Given the description of an element on the screen output the (x, y) to click on. 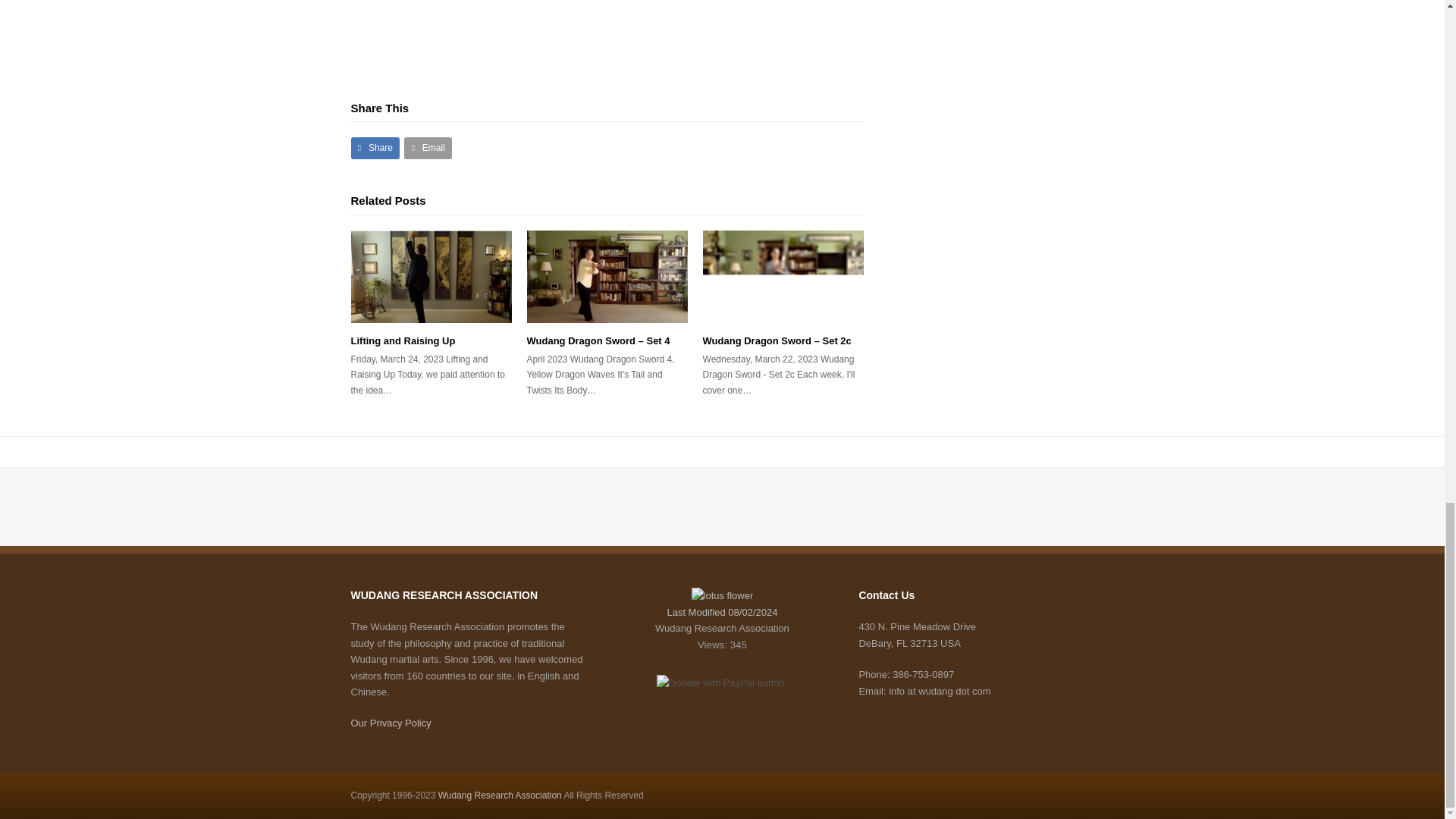
YouTube video player (562, 16)
Lifting and Raising Up (430, 276)
PayPal - The safer, easier way to pay online! (720, 682)
